Given the description of an element on the screen output the (x, y) to click on. 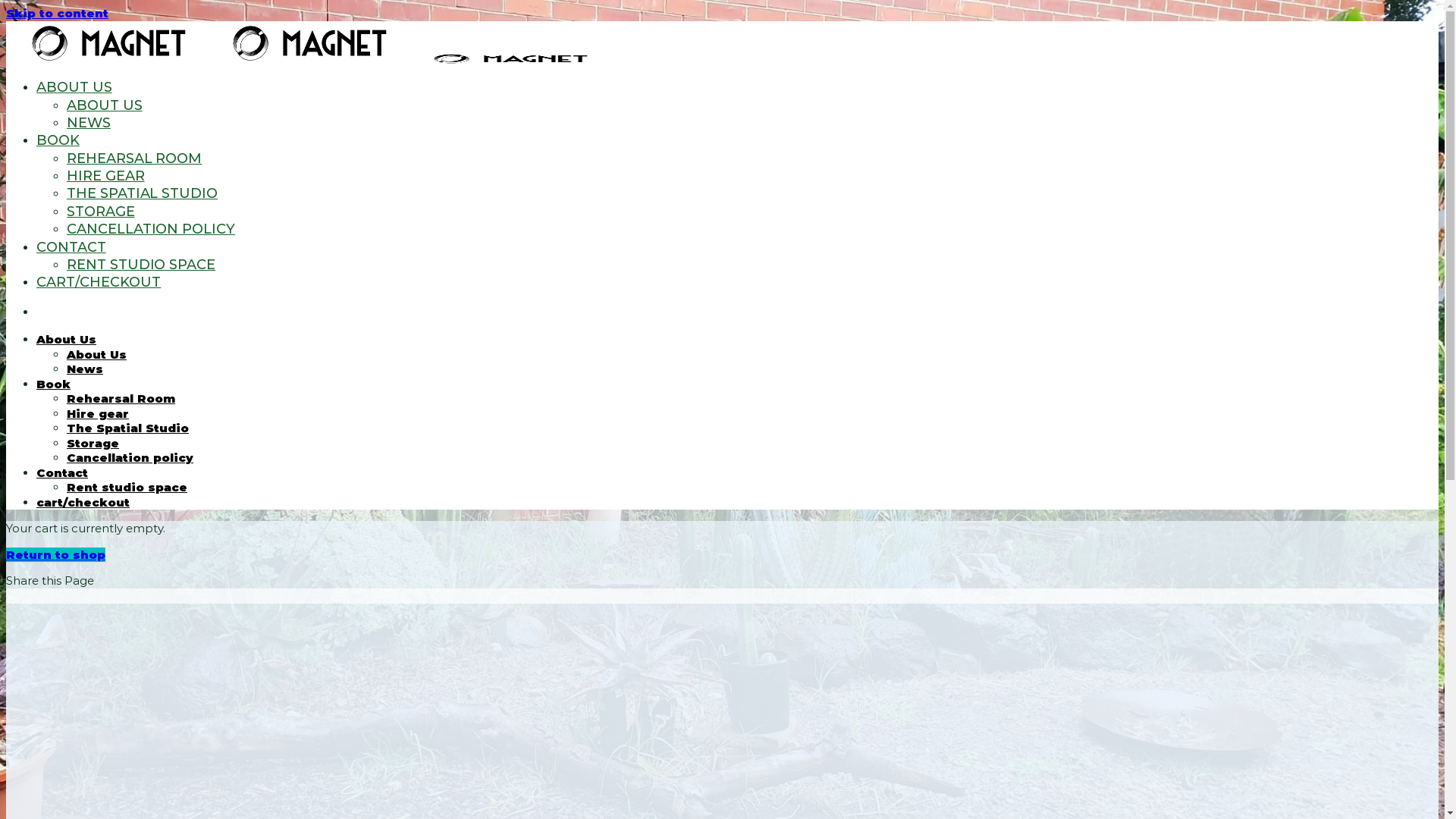
The Spatial Studio Element type: text (127, 427)
Book Element type: text (53, 383)
THE SPATIAL STUDIO Element type: text (141, 193)
HIRE GEAR Element type: text (105, 175)
Cancellation policy Element type: text (129, 457)
Rehearsal Room Element type: text (120, 398)
Storage Element type: text (92, 443)
BOOK Element type: text (57, 139)
cart/checkout Element type: text (82, 502)
CANCELLATION POLICY Element type: text (150, 228)
CONTACT Element type: text (71, 246)
Contact Element type: text (61, 472)
About Us Element type: text (66, 339)
Hire gear Element type: text (97, 413)
Skip to content Element type: text (57, 13)
CART/CHECKOUT Element type: text (98, 281)
ABOUT US Element type: text (104, 105)
REHEARSAL ROOM Element type: text (133, 158)
Magnet Studios Melbourne Element type: hover (307, 60)
STORAGE Element type: text (100, 211)
Return to shop Element type: text (55, 554)
ABOUT US Element type: text (74, 86)
Rent studio space Element type: text (126, 487)
RENT STUDIO SPACE Element type: text (140, 264)
NEWS Element type: text (88, 122)
News Element type: text (84, 368)
About Us Element type: text (96, 354)
